Given the description of an element on the screen output the (x, y) to click on. 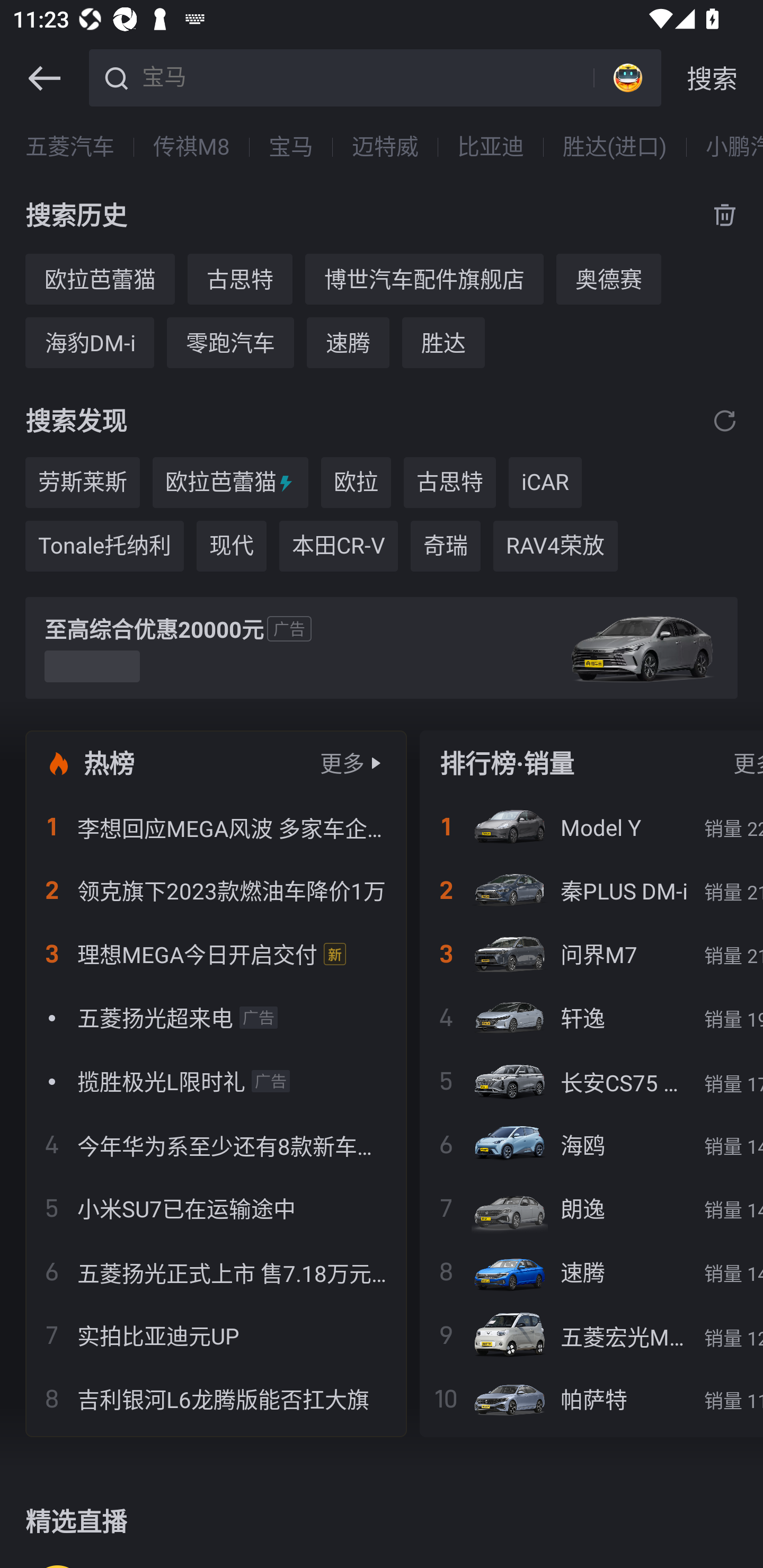
 宝马 (364, 76)
 (44, 78)
搜索 (711, 78)
五菱汽车 (69, 147)
传祺M8 (191, 147)
宝马 (290, 147)
迈特威 (384, 147)
比亚迪 (490, 147)
胜达(进口) (614, 147)
欧拉芭蕾猫 (99, 278)
古思特 (239, 278)
博世汽车配件旗舰店 (424, 278)
奥德赛 (608, 278)
海豹DM-i (89, 342)
零跑汽车 (230, 342)
速腾 (347, 342)
胜达 (443, 342)
 (724, 419)
劳斯莱斯 (82, 482)
欧拉芭蕾猫 (230, 482)
欧拉 (355, 482)
古思特 (449, 482)
iCAR (544, 482)
Tonale托纳利 (104, 546)
现代 (231, 546)
本田CR-V (338, 546)
奇瑞 (445, 546)
RAV4荣放 (555, 546)
至高综合优惠20000元 广告 立享优惠 (381, 648)
更多 (341, 762)
李想回应MEGA风波 多家车企表态 (215, 826)
Model Y 销量 22537 (591, 826)
领克旗下2023款燃油车降价1万 (215, 890)
秦PLUS DM-i 销量 21268 (591, 890)
理想MEGA今日开启交付 (215, 953)
问界M7 销量 21083 (591, 953)
五菱扬光超来电 (215, 1017)
轩逸 销量 19878 (591, 1017)
揽胜极光L限时礼 (215, 1080)
长安CS75 PLUS 销量 17303 (591, 1080)
今年华为系至少还有8款新车要来 (215, 1144)
海鸥 销量 14403 (591, 1144)
小米SU7已在运输途中 (215, 1208)
朗逸 销量 14400 (591, 1208)
五菱扬光正式上市 售7.18万元起 (215, 1271)
速腾 销量 14209 (591, 1271)
实拍比亚迪元UP (215, 1335)
五菱宏光MINIEV 销量 12649 (591, 1335)
吉利银河L6龙腾版能否扛大旗 (215, 1398)
帕萨特 销量 11641 (591, 1398)
